Given the description of an element on the screen output the (x, y) to click on. 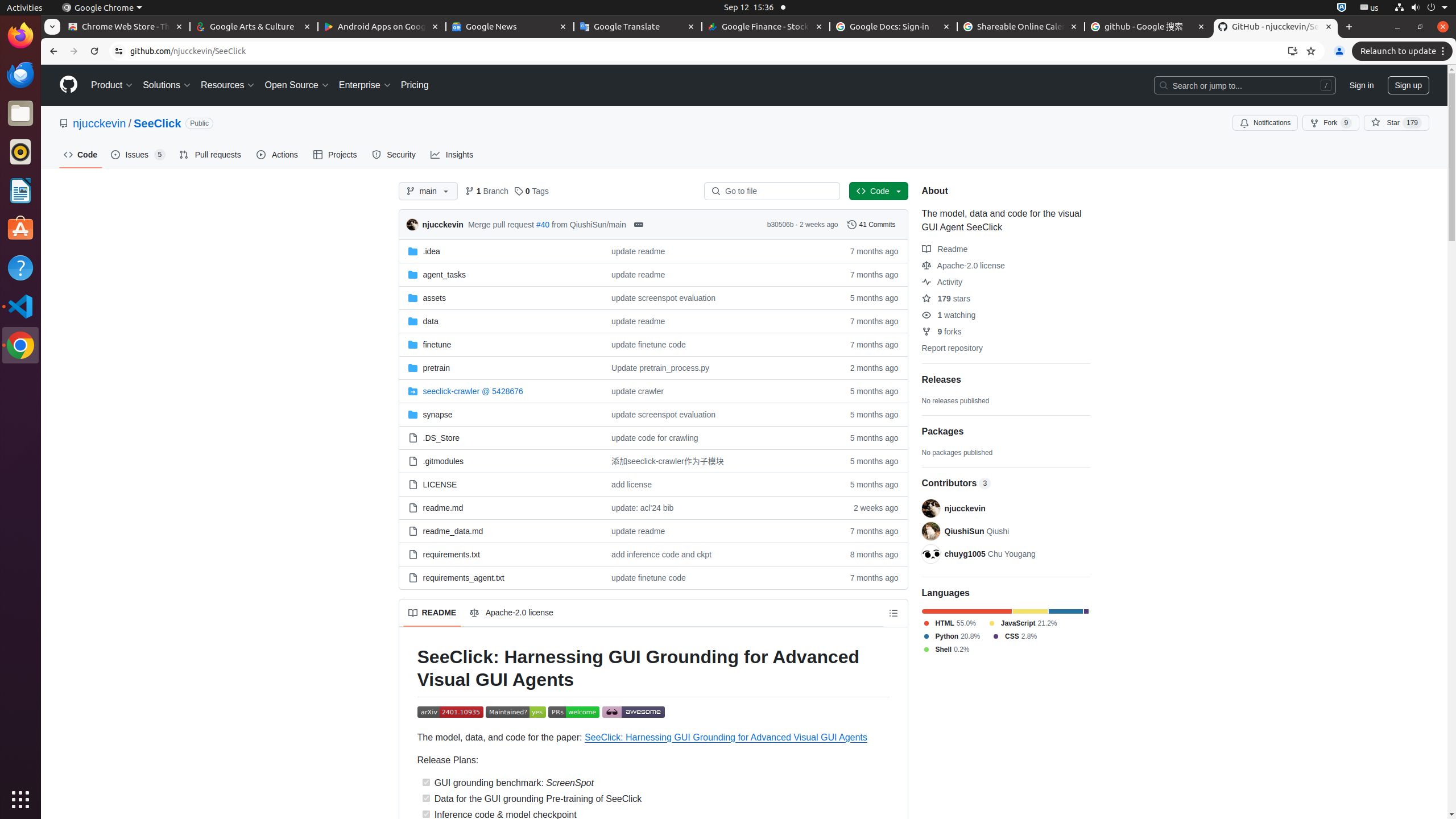
assets, (Directory) Element type: table-cell (500, 297)
@njucckevin Element type: link (930, 508)
HTML 55.0% Element type: link (948, 623)
add license Element type: table-cell (716, 483)
Pull requests Element type: link (210, 154)
